Given the description of an element on the screen output the (x, y) to click on. 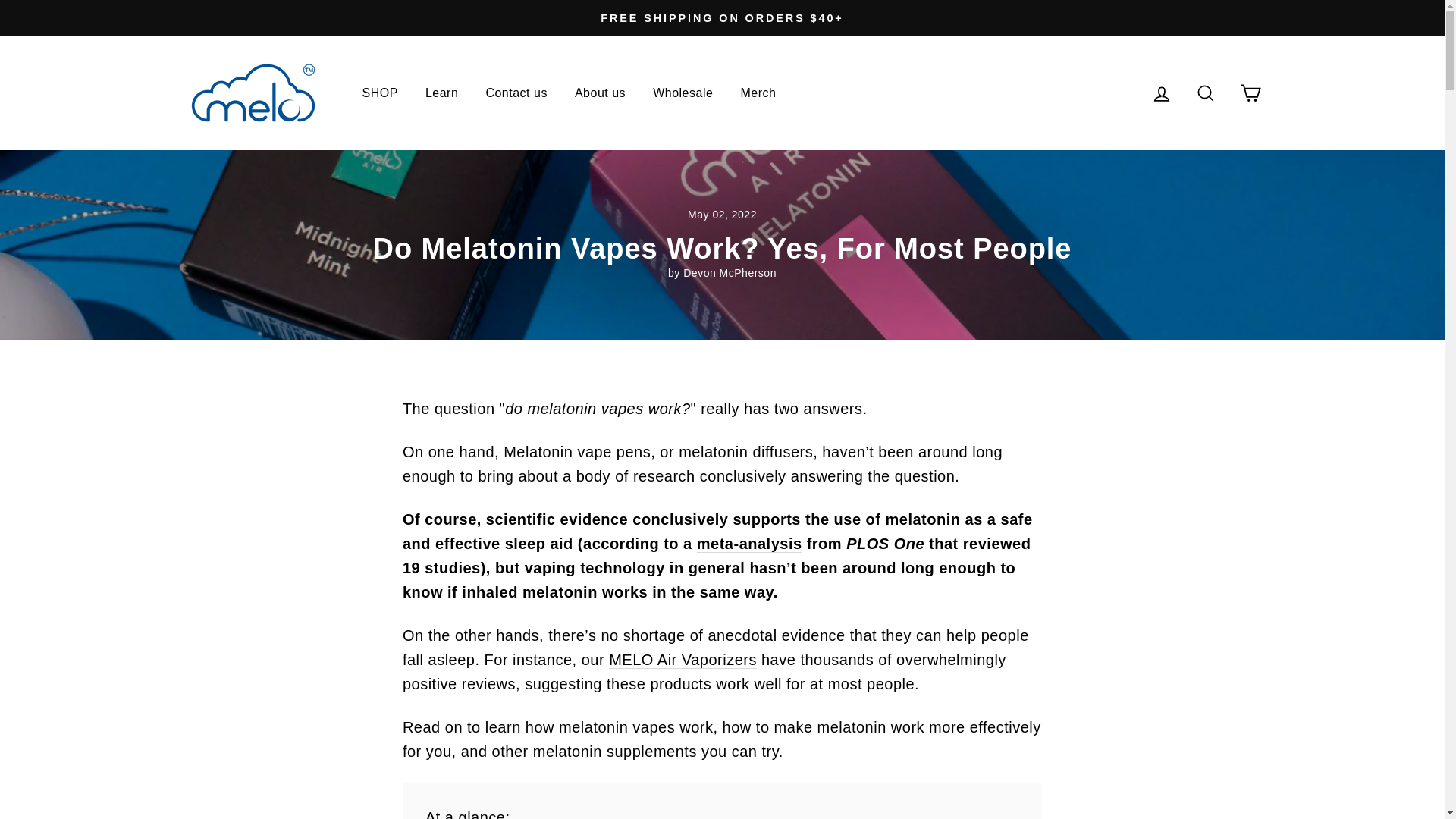
SHOP (379, 92)
